Given the description of an element on the screen output the (x, y) to click on. 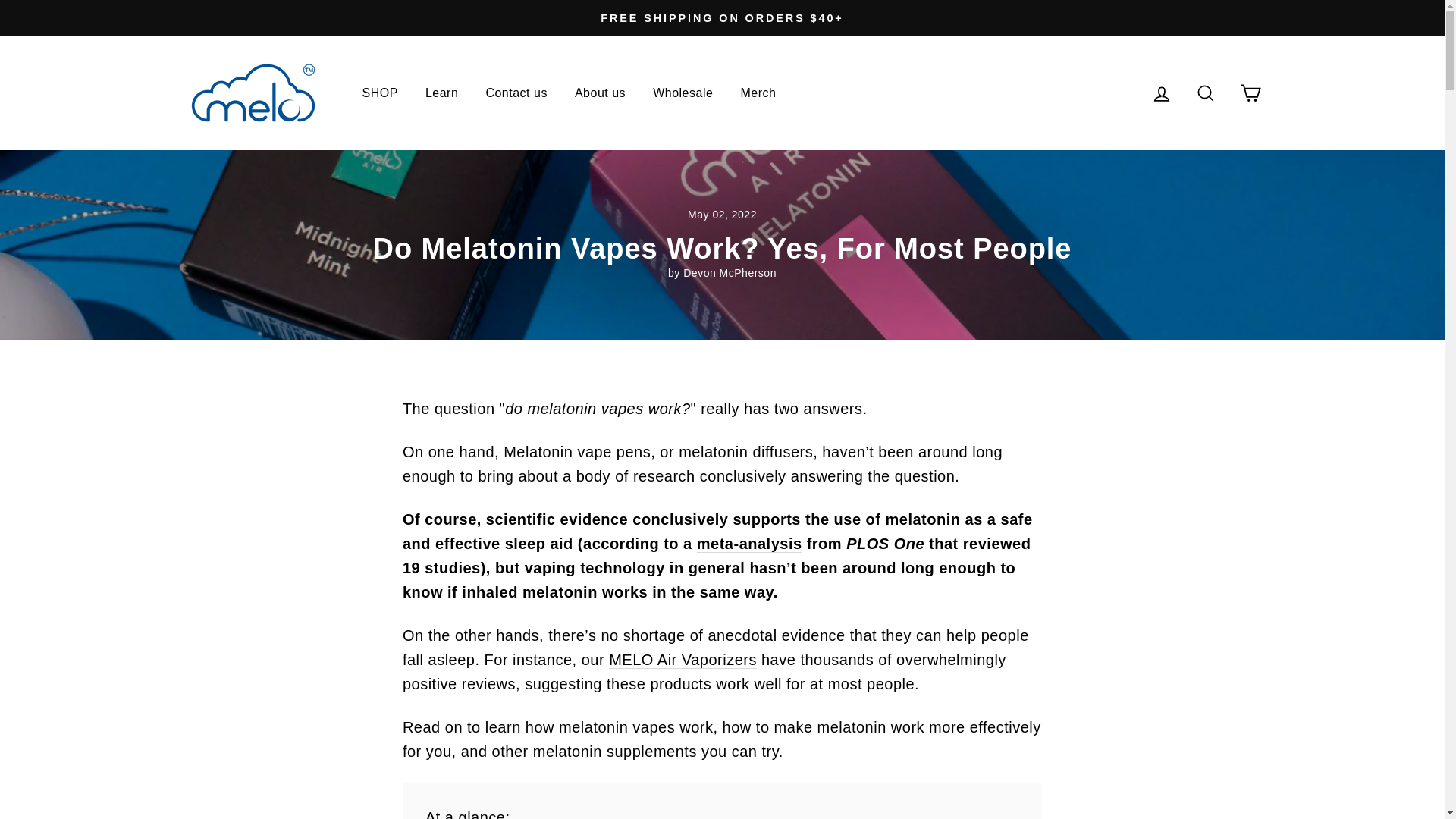
SHOP (379, 92)
